Given the description of an element on the screen output the (x, y) to click on. 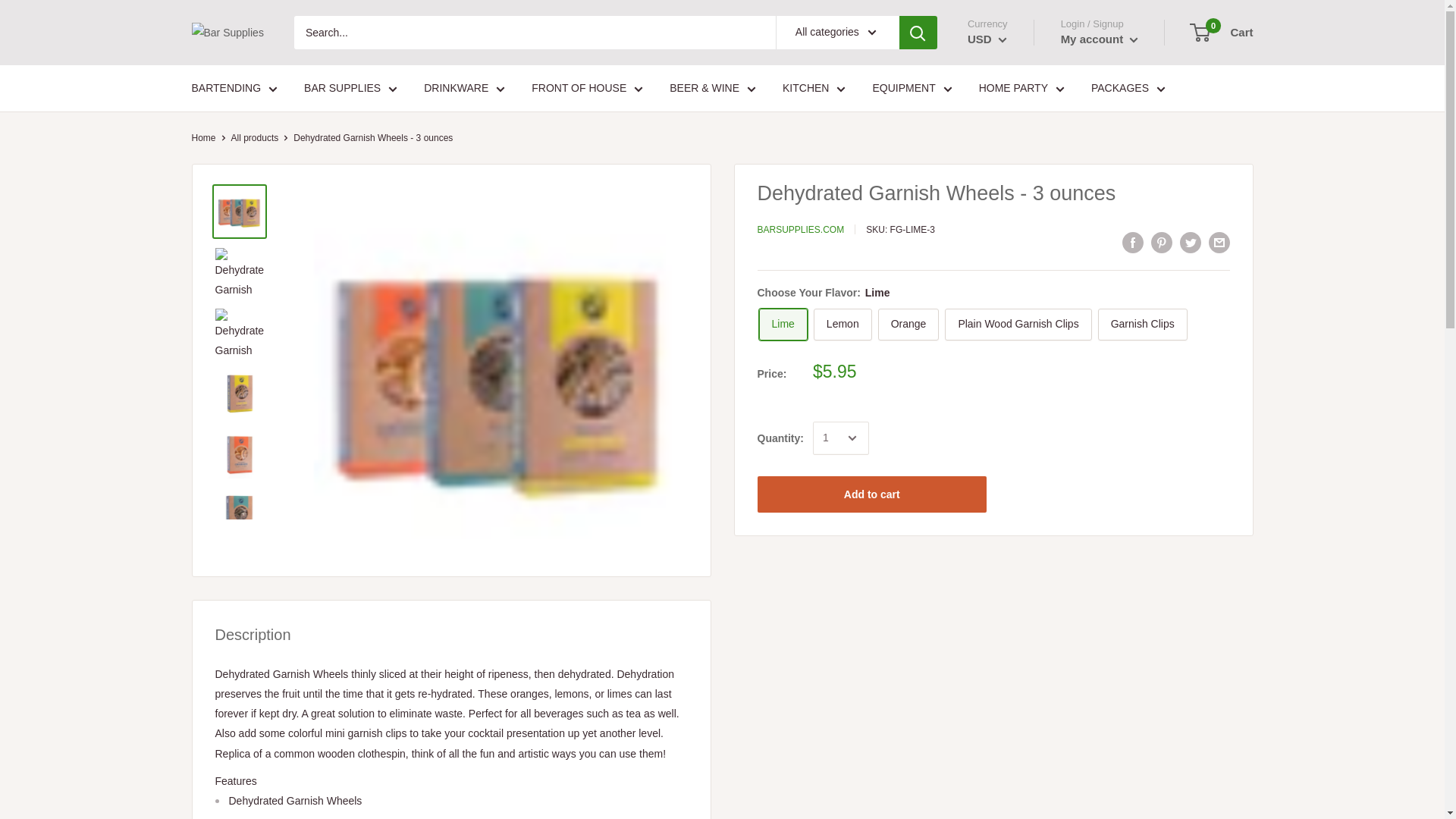
Orange (908, 323)
Plain Wood Garnish Clips (1017, 323)
Lime (782, 323)
Garnish Clips (1142, 323)
Lemon (842, 323)
